Given the description of an element on the screen output the (x, y) to click on. 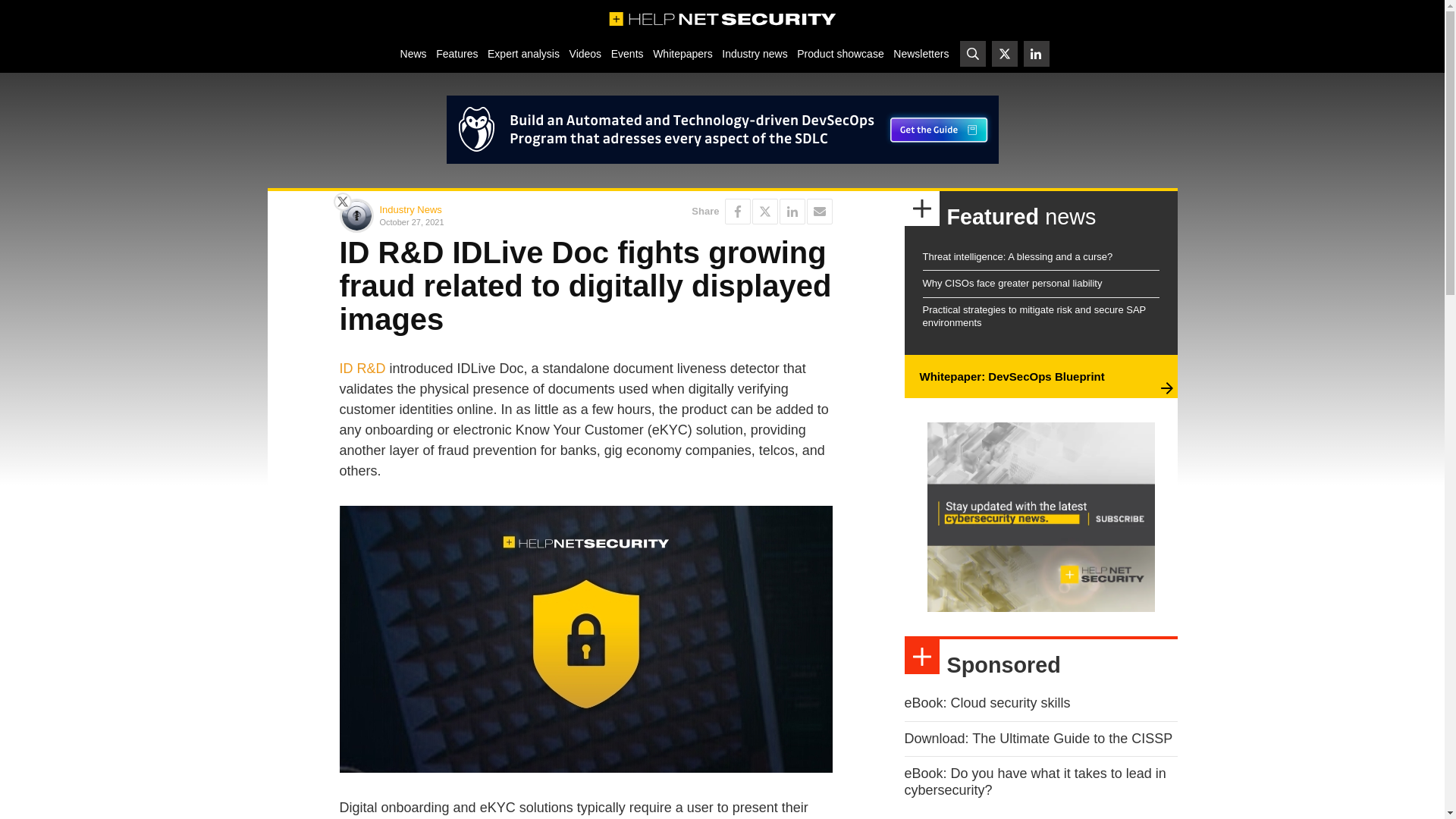
eBook: Cloud security skills (987, 702)
Why CISOs face greater personal liability (1011, 283)
Features (456, 53)
eBook: Do you have what it takes to lead in cybersecurity? (1035, 781)
News (412, 53)
Threat intelligence: A blessing and a curse? (1016, 256)
Product showcase (840, 53)
Threat intelligence: A blessing and a curse? (1016, 256)
Expert analysis (523, 53)
October 27, 2021 (478, 221)
Whitepapers (682, 53)
Videos (584, 53)
Newsletters (920, 53)
Whitepaper: DevSecOps Blueprint (1010, 376)
Download: The Ultimate Guide to the CISSP (1038, 738)
